Given the description of an element on the screen output the (x, y) to click on. 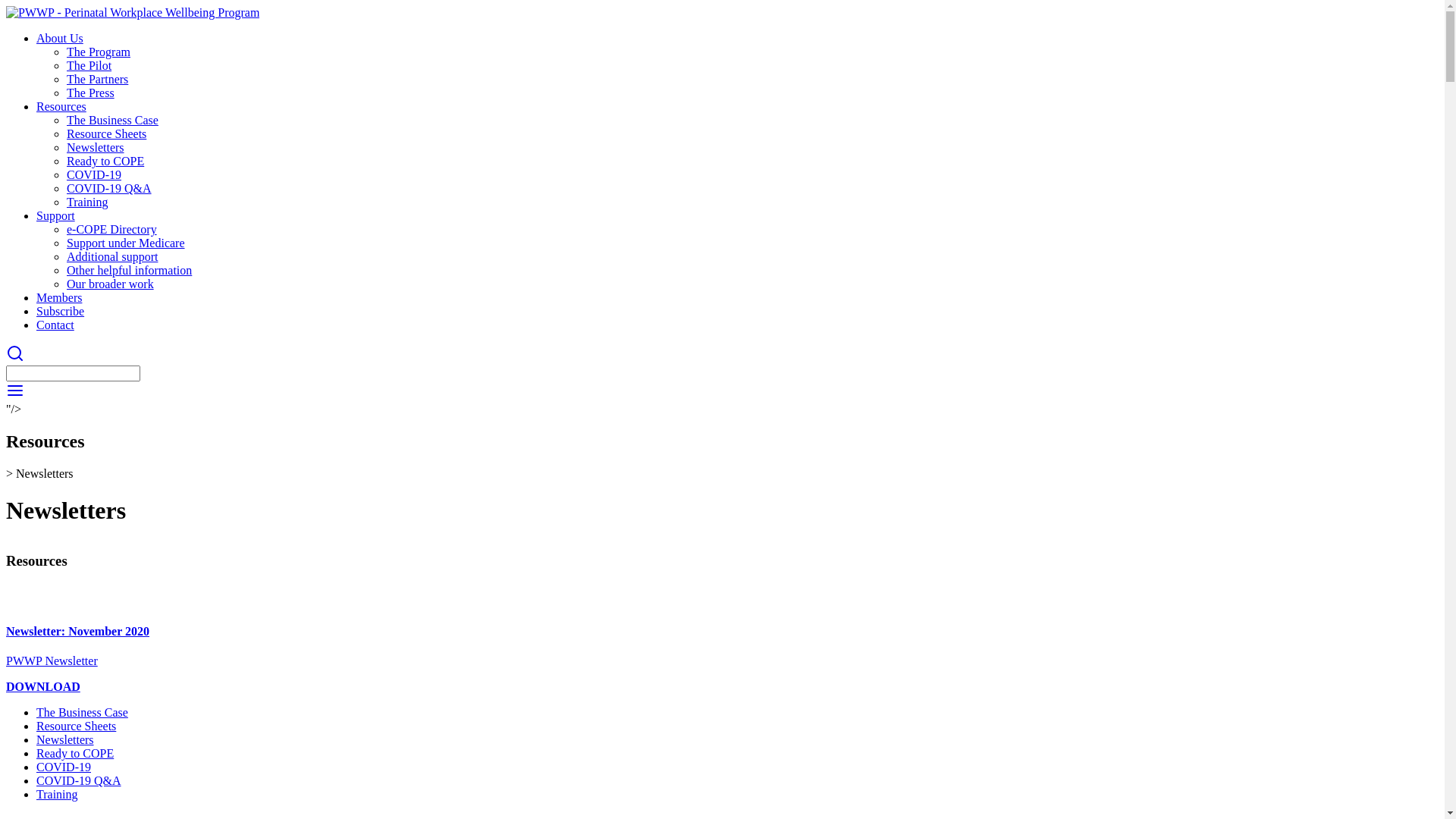
COVID-19 Q&A Element type: text (78, 780)
The Pilot Element type: text (88, 65)
e-COPE Directory Element type: text (111, 228)
Support under Medicare Element type: text (125, 242)
Newsletters Element type: text (95, 147)
Newsletter: November 2020
PWWP Newsletter
DOWNLOAD Element type: text (722, 643)
Additional support Element type: text (111, 256)
Subscribe Element type: text (60, 310)
The Partners Element type: text (97, 78)
Other helpful information Element type: text (128, 269)
Members Element type: text (58, 297)
COVID-19 Element type: text (93, 174)
COVID-19 Element type: text (63, 766)
COVID-19 Q&A Element type: text (108, 188)
The Business Case Element type: text (112, 119)
The Business Case Element type: text (82, 712)
Our broader work Element type: text (109, 283)
Newsletters Element type: text (65, 739)
Ready to COPE Element type: text (74, 752)
Ready to COPE Element type: text (105, 160)
The Press Element type: text (90, 92)
Resource Sheets Element type: text (76, 725)
Resources Element type: text (61, 106)
Support Element type: text (55, 215)
About Us Element type: text (59, 37)
Training Element type: text (87, 201)
Contact Element type: text (55, 324)
Training Element type: text (57, 793)
Resource Sheets Element type: text (106, 133)
The Program Element type: text (98, 51)
